Given the description of an element on the screen output the (x, y) to click on. 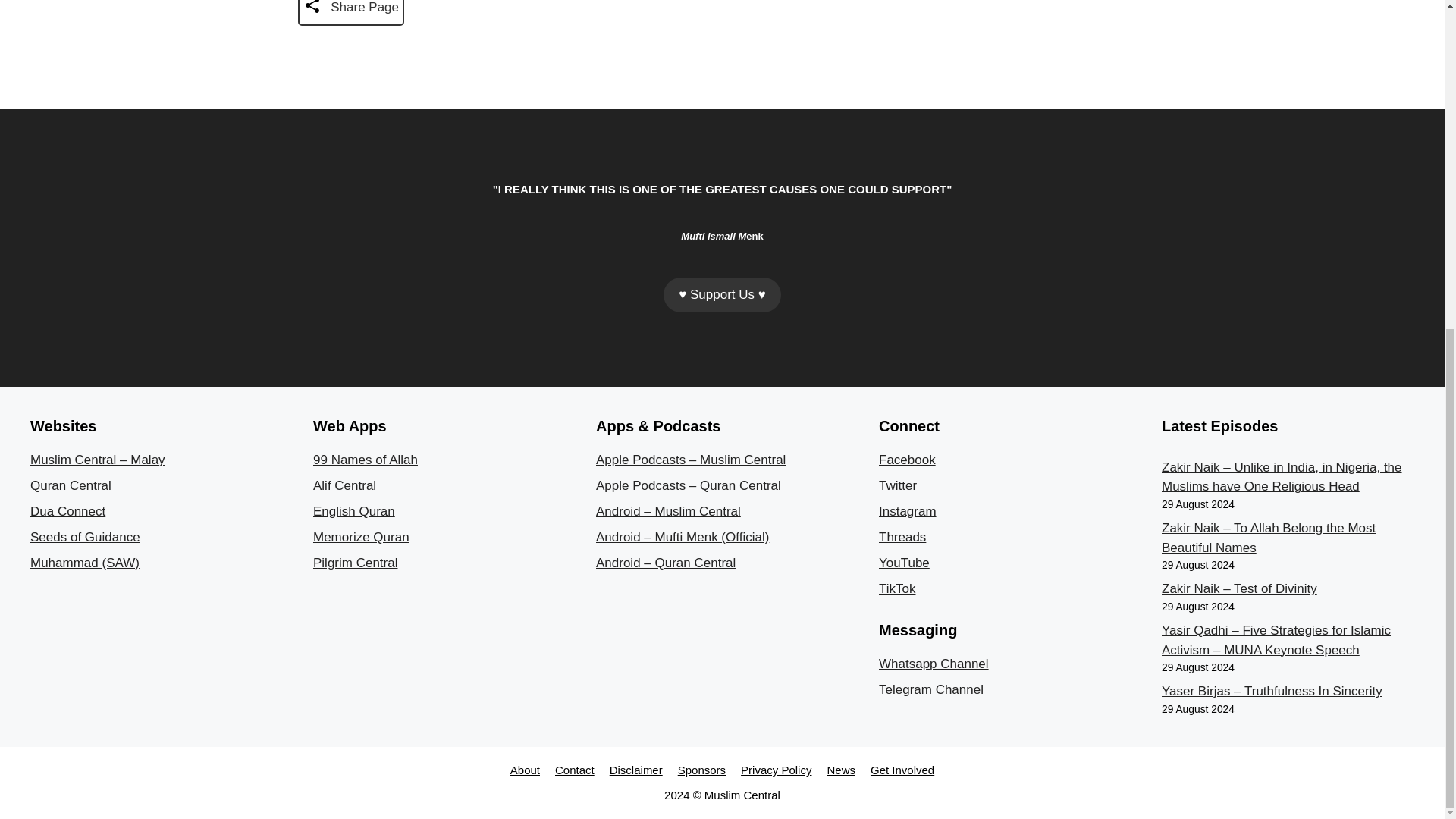
English Quran (353, 511)
Quran Central (71, 485)
Pilgrim Central (355, 563)
Facebook (907, 459)
Alif Central (344, 485)
Seeds of Guidance (84, 536)
Twitter (898, 485)
99 Names of Allah (365, 459)
Memorize Quran (361, 536)
Dua Connect (67, 511)
